Given the description of an element on the screen output the (x, y) to click on. 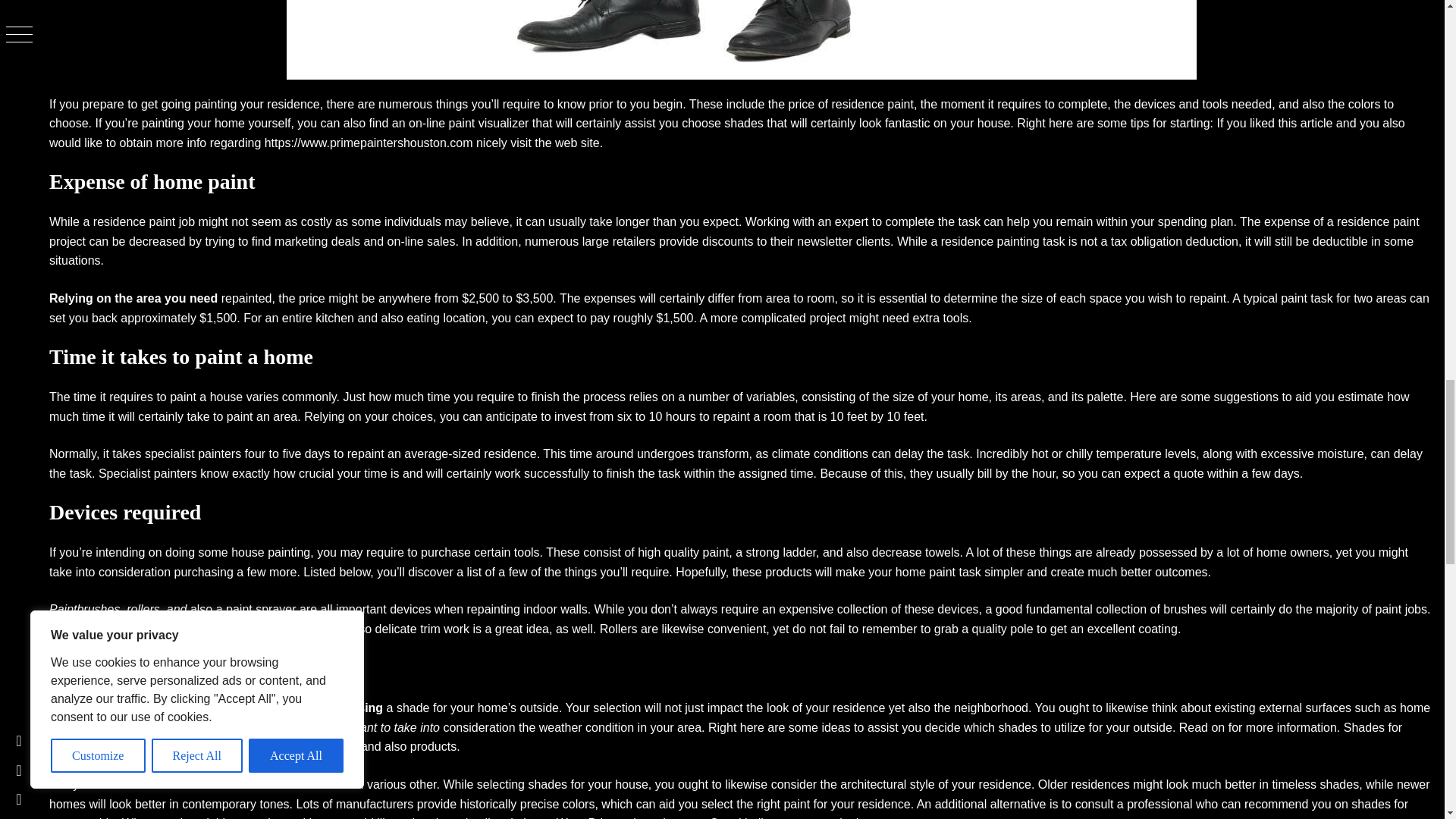
consisting (829, 396)
collection (126, 628)
additionally (292, 727)
Www.Primepaintershouston.Com (645, 817)
